Given the description of an element on the screen output the (x, y) to click on. 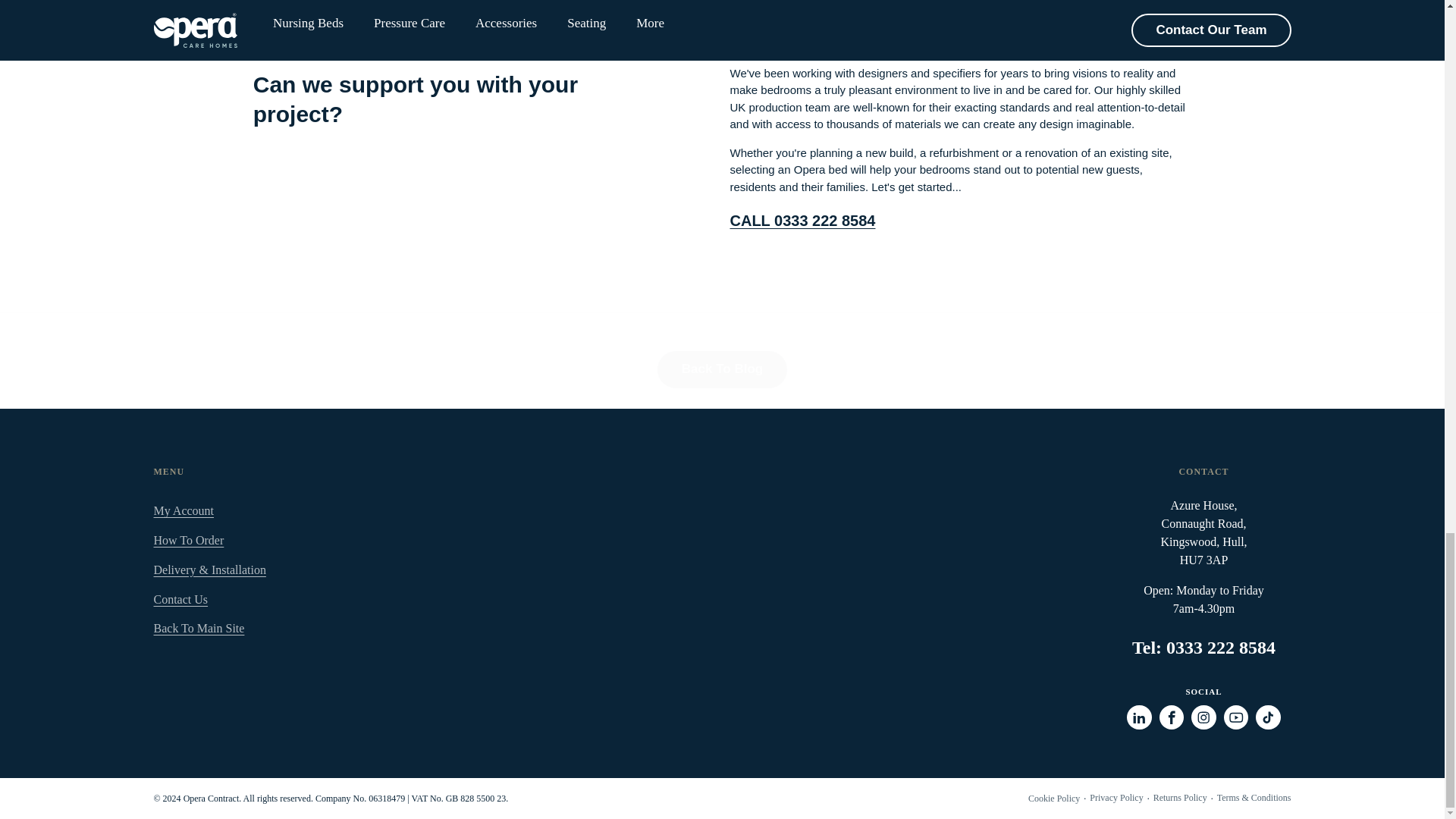
tel:0333 222 8584 (802, 220)
Call Opera Beds (1220, 647)
